Given the description of an element on the screen output the (x, y) to click on. 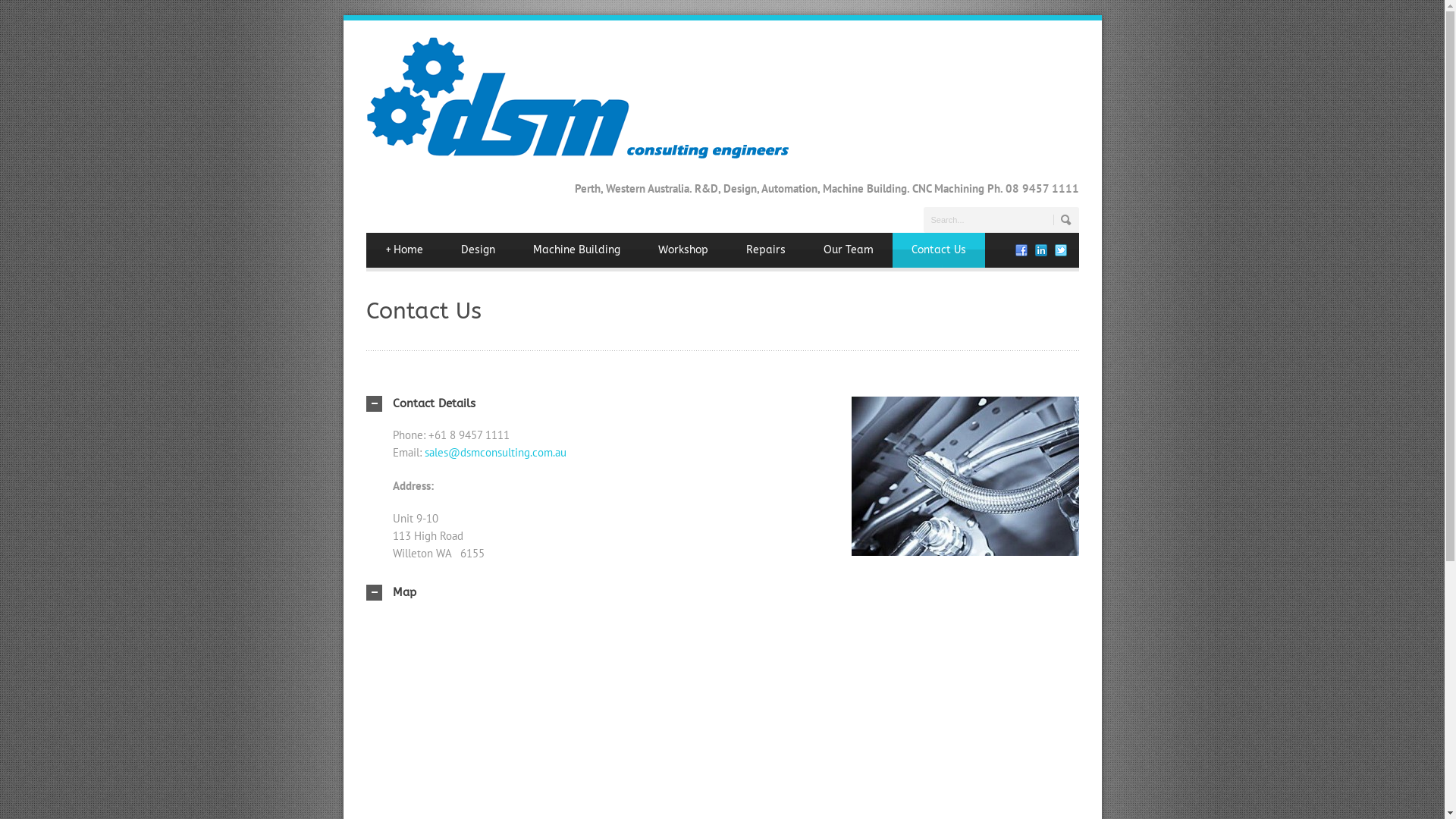
Home
+ Element type: text (403, 249)
sales@dsmconsulting.com.au Element type: text (495, 452)
Contact Us Element type: text (937, 249)
Workshop Element type: text (682, 249)
Our Team Element type: text (847, 249)
Design Element type: text (477, 249)
Repairs Element type: text (764, 249)
Machine Building Element type: text (576, 249)
